Given the description of an element on the screen output the (x, y) to click on. 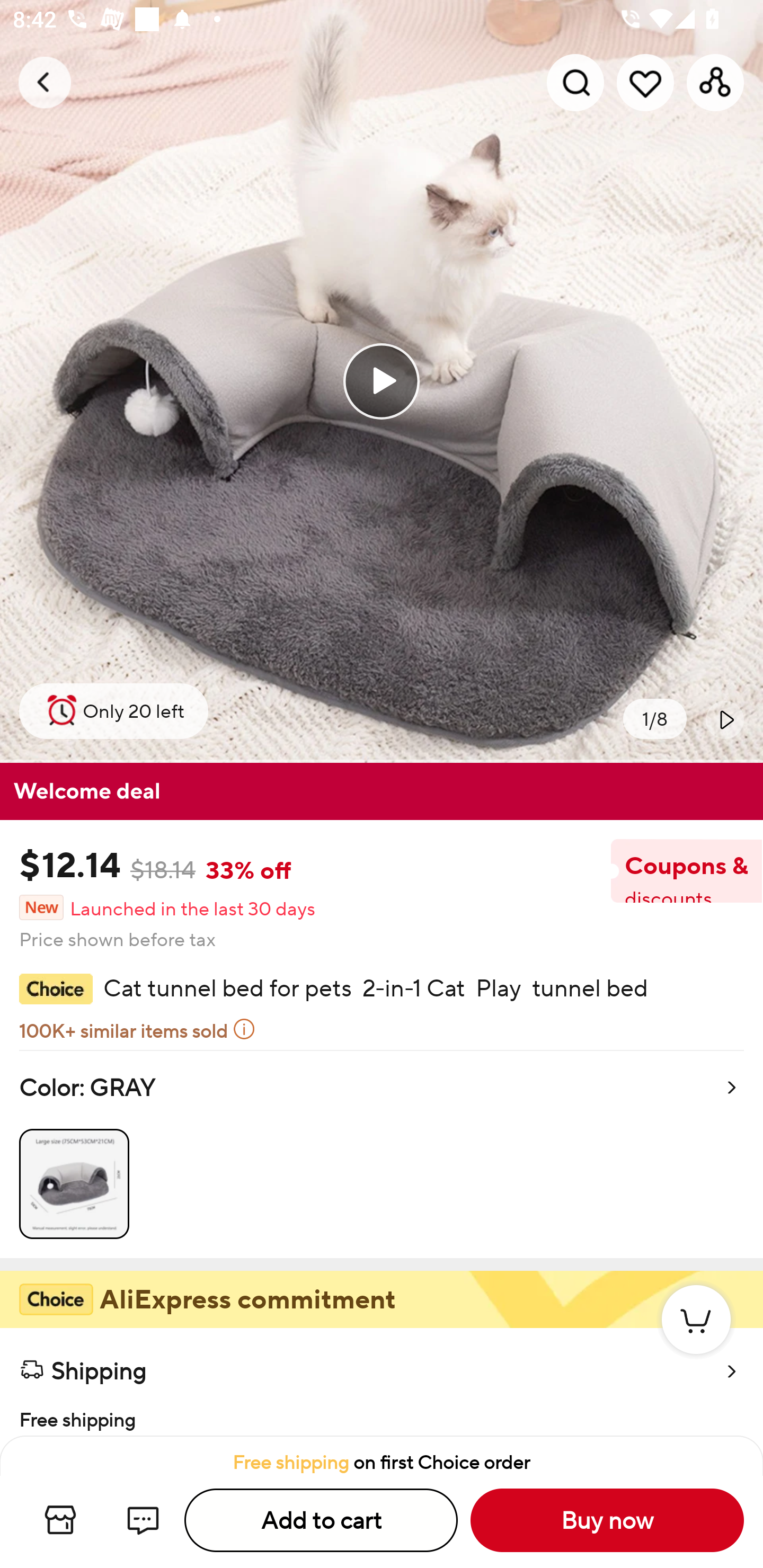
0.0 (381, 381)
Navigate up (44, 82)
 (724, 719)
Color: GRAY  (381, 1153)
Shipping  Free shipping  (381, 1382)
Free shipping  (381, 1414)
Add to cart (320, 1520)
Buy now (606, 1520)
